Given the description of an element on the screen output the (x, y) to click on. 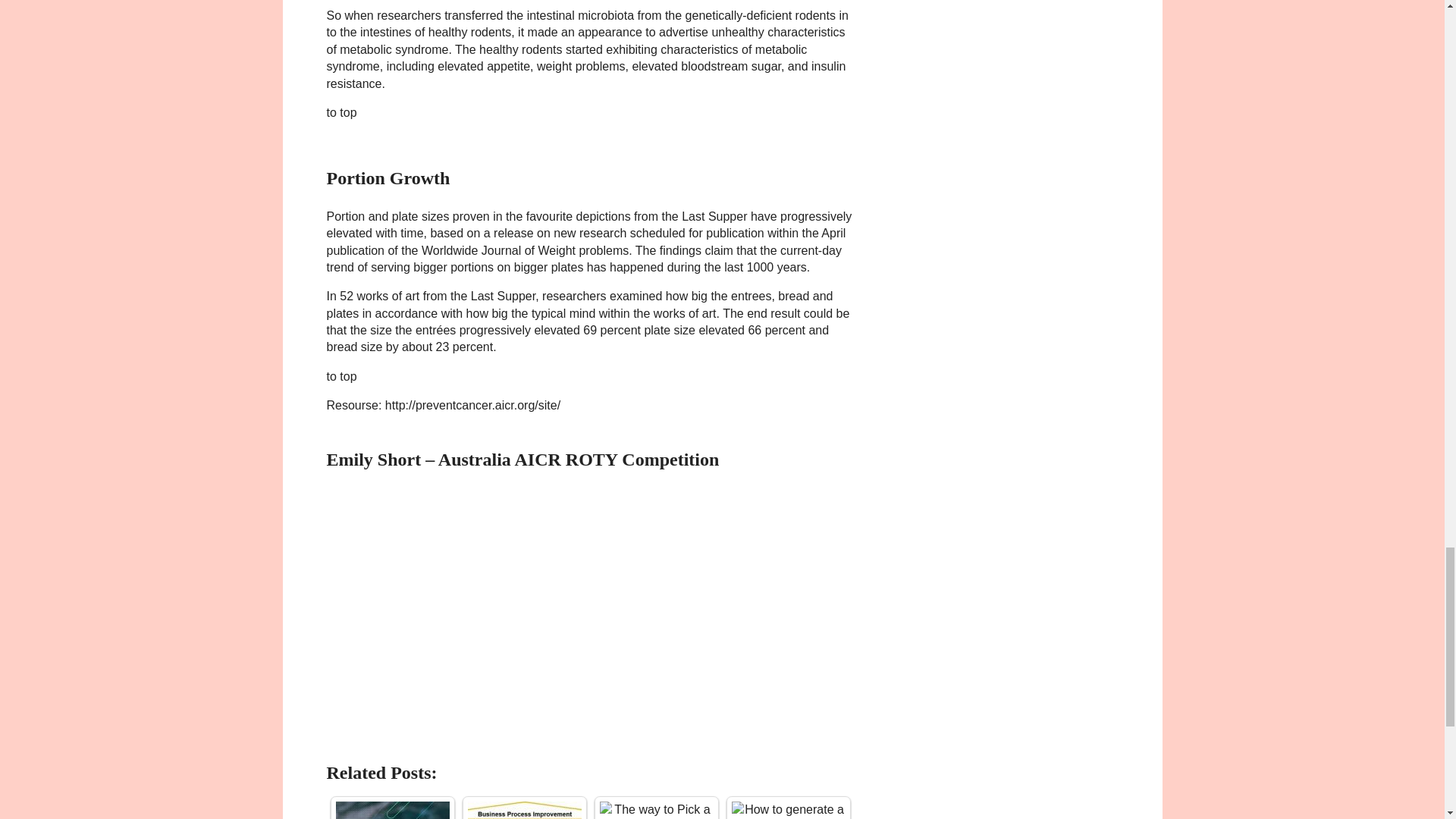
The way to Pick a Career (655, 810)
How to generate a Curriculum vitae with Search engines Docs (787, 810)
How to generate a Curriculum vitae with Search engines Docs (787, 810)
The way to Pick a Career (655, 810)
